Given the description of an element on the screen output the (x, y) to click on. 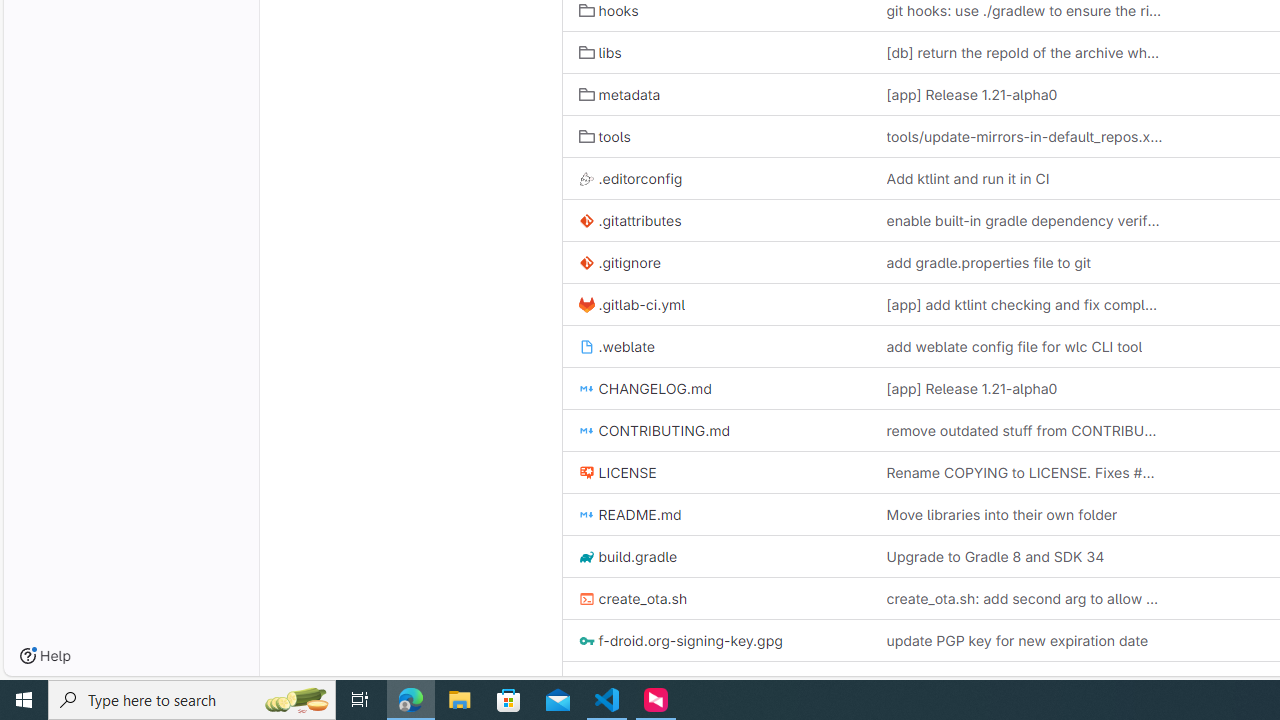
create_ota.sh (633, 598)
add gradle.properties file to git (1024, 262)
tools (715, 136)
.editorconfig (715, 178)
CHANGELOG.md (715, 388)
